Given the description of an element on the screen output the (x, y) to click on. 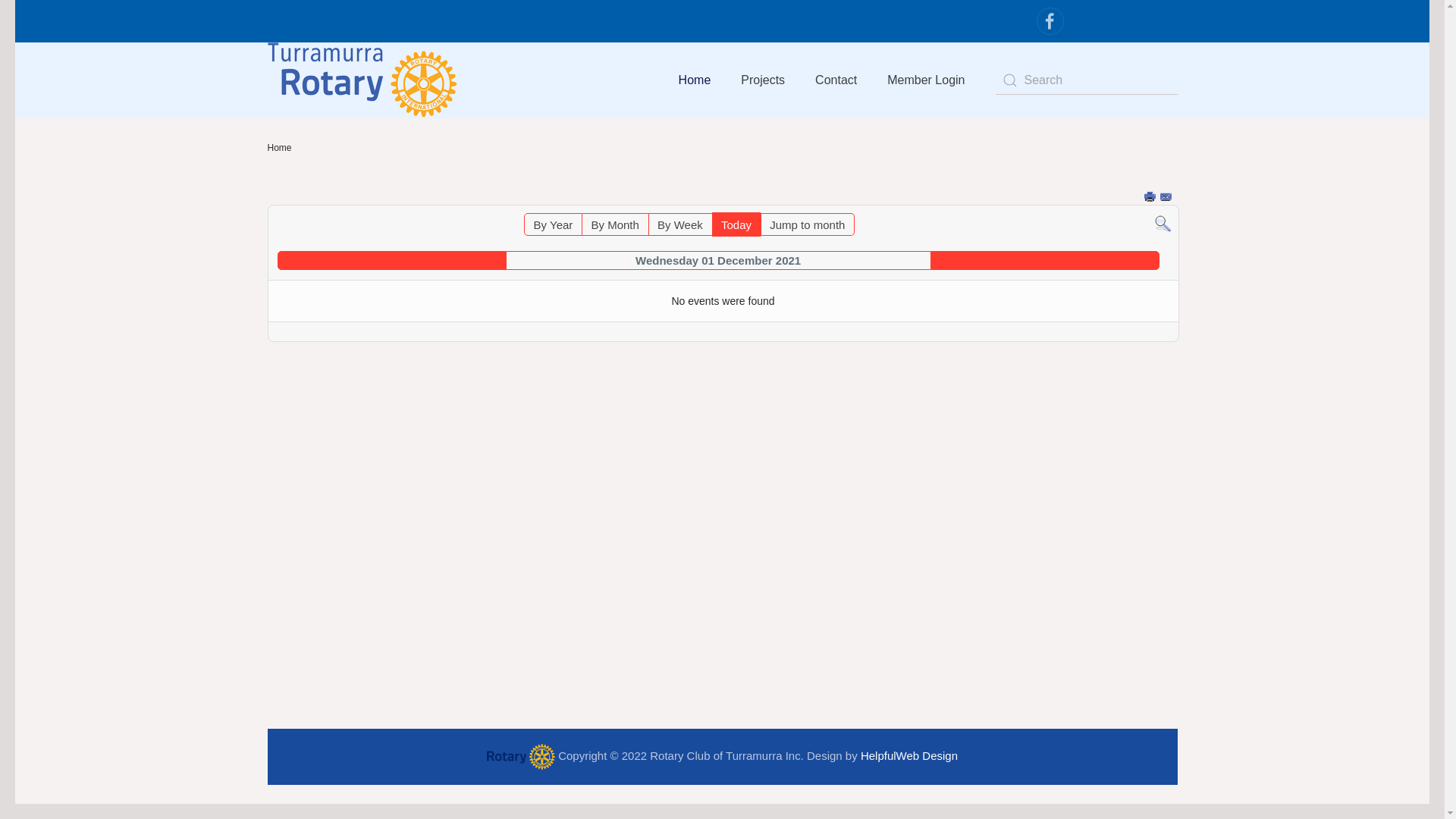
By Week Element type: text (680, 224)
Contact Element type: text (836, 79)
Jump to month Element type: text (806, 224)
Today Element type: text (736, 224)
Projects Element type: text (762, 79)
HelpfulWeb Design Element type: text (908, 755)
Search Element type: hover (1162, 222)
By Month Element type: text (615, 224)
Home Element type: text (694, 79)
By Year Element type: text (553, 224)
Member Login Element type: text (925, 79)
Print Element type: hover (1150, 197)
EMAIL Element type: hover (1166, 197)
